Given the description of an element on the screen output the (x, y) to click on. 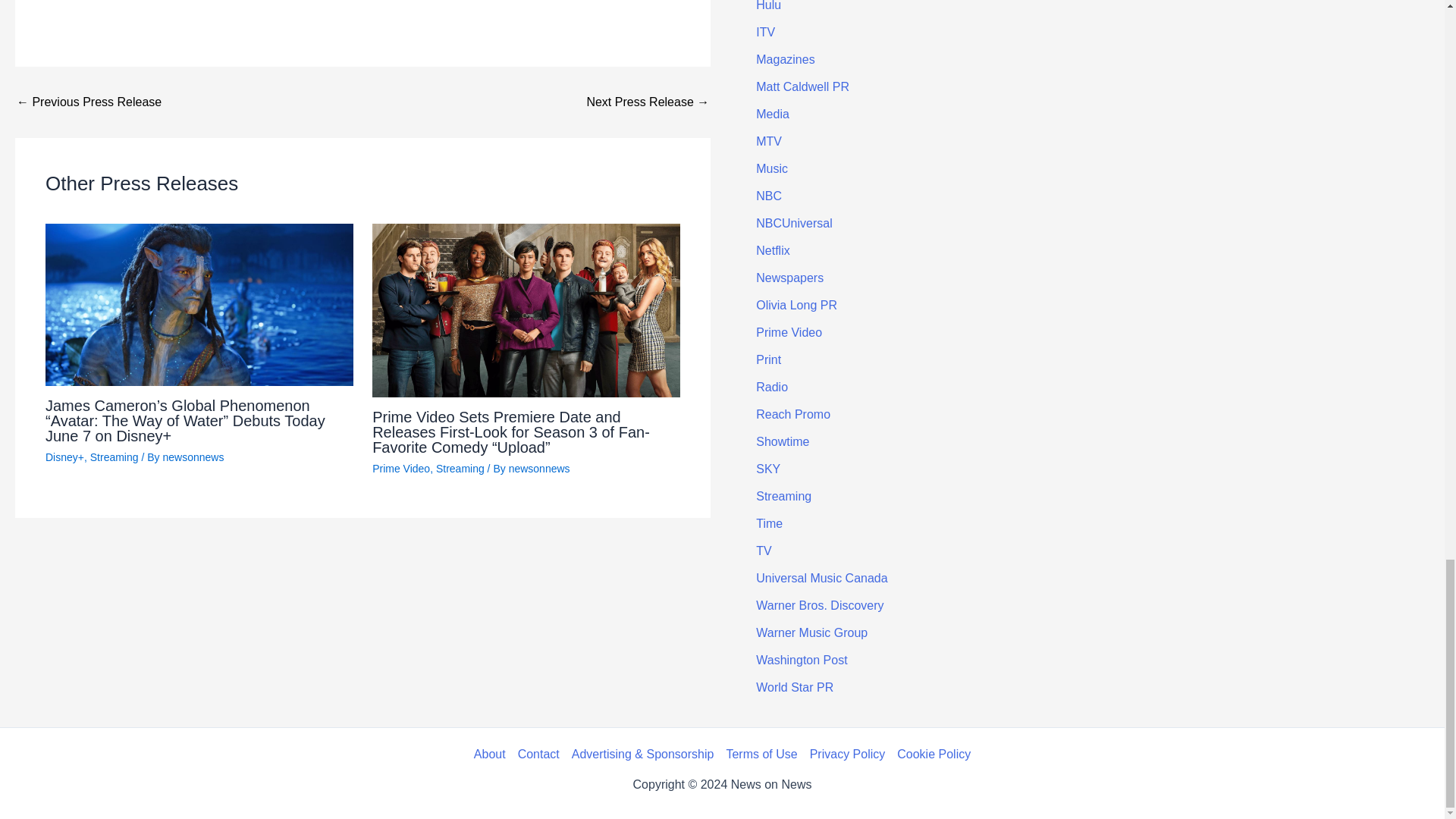
View all posts by newsonnews (539, 468)
View all posts by newsonnews (192, 457)
